Given the description of an element on the screen output the (x, y) to click on. 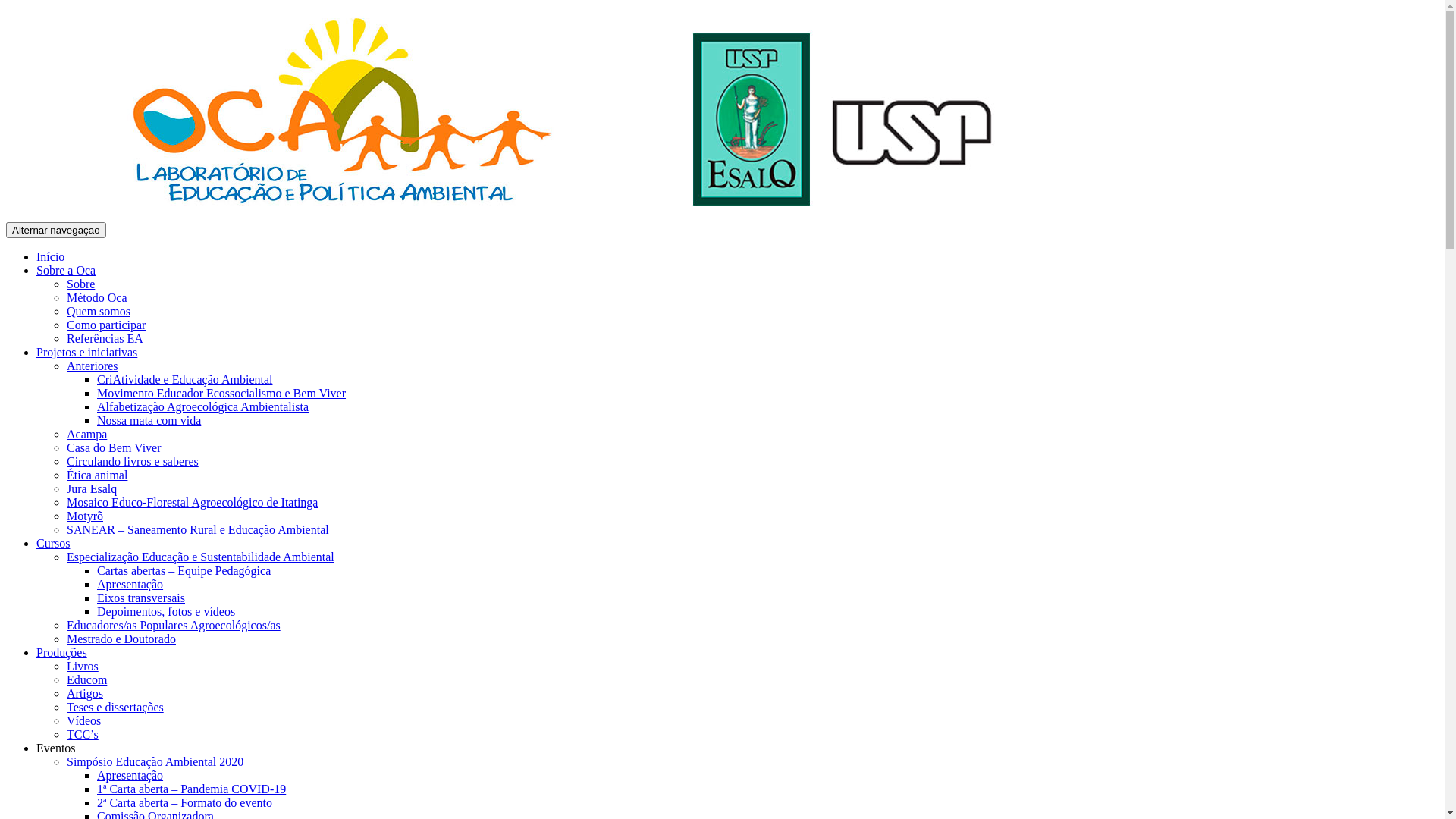
Projetos e iniciativas Element type: text (86, 351)
Mestrado e Doutorado Element type: text (120, 638)
Quem somos Element type: text (98, 310)
Circulando livros e saberes Element type: text (132, 461)
Sobre Element type: text (80, 283)
Casa do Bem Viver Element type: text (113, 447)
Nossa mata com vida Element type: text (148, 420)
Jura Esalq Element type: text (91, 488)
Eixos transversais Element type: text (141, 597)
Movimento Educador Ecossocialismo e Bem Viver Element type: text (221, 392)
Livros Element type: text (82, 665)
Eventos Element type: text (55, 747)
Artigos Element type: text (84, 693)
Anteriores Element type: text (92, 365)
Cursos Element type: text (52, 542)
Educom Element type: text (86, 679)
Como participar Element type: text (105, 324)
Sobre a Oca Element type: text (65, 269)
Acampa Element type: text (86, 433)
